Given the description of an element on the screen output the (x, y) to click on. 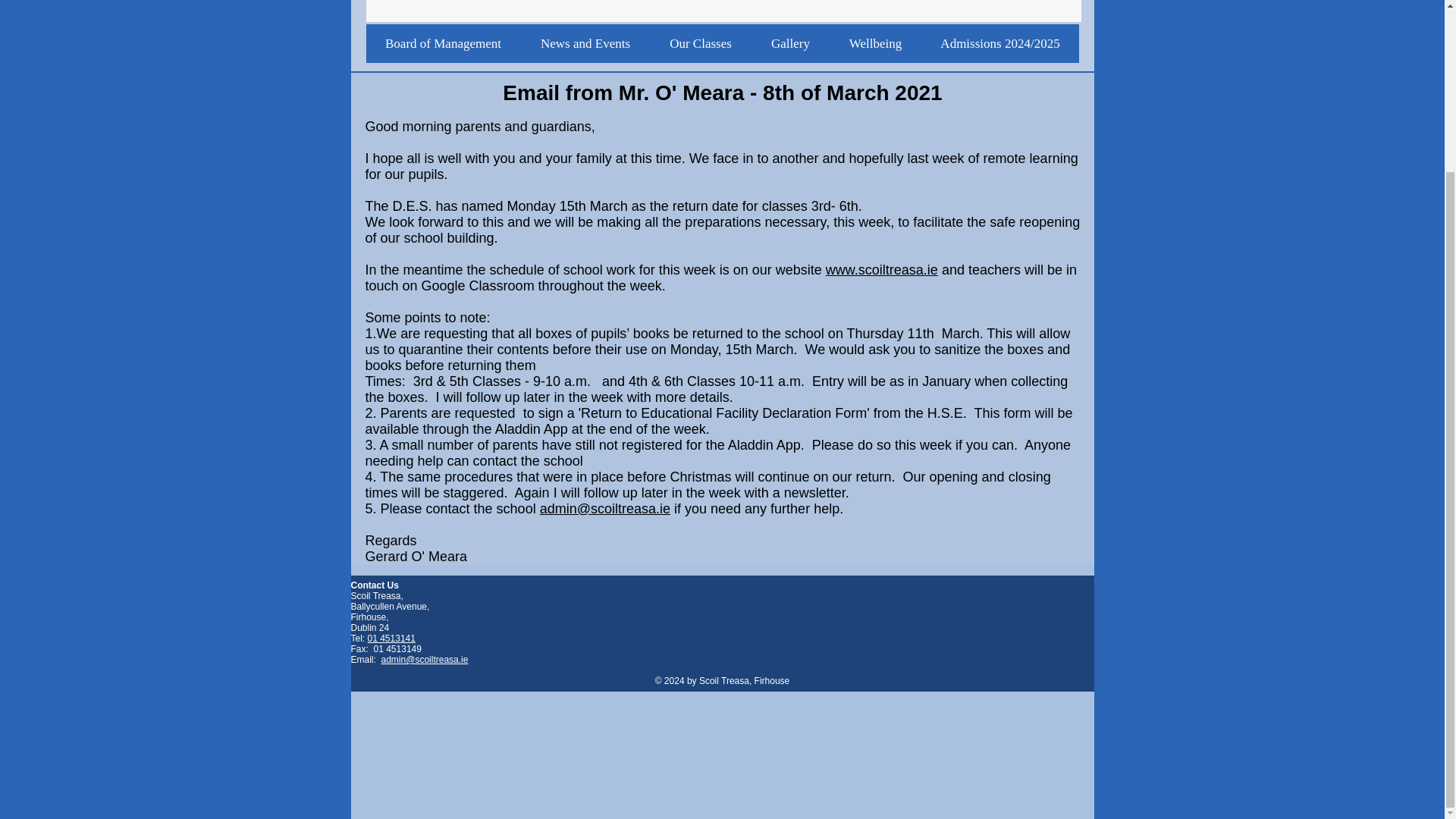
www.scoiltreasa.ie (881, 269)
Board of Management (442, 43)
Wellbeing (875, 43)
